Given the description of an element on the screen output the (x, y) to click on. 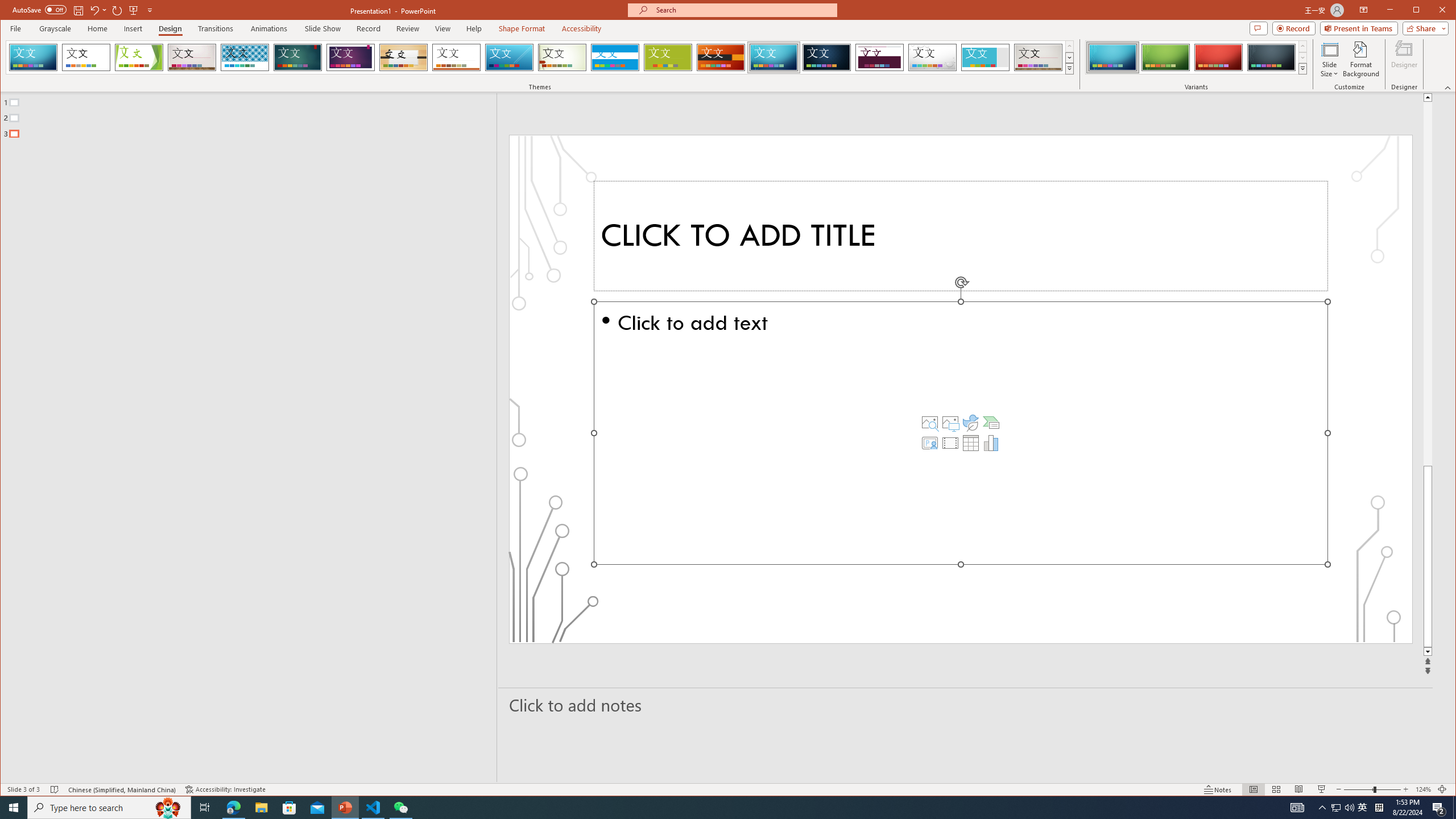
Berlin (720, 57)
Circuit Variant 3 (1218, 57)
